Given the description of an element on the screen output the (x, y) to click on. 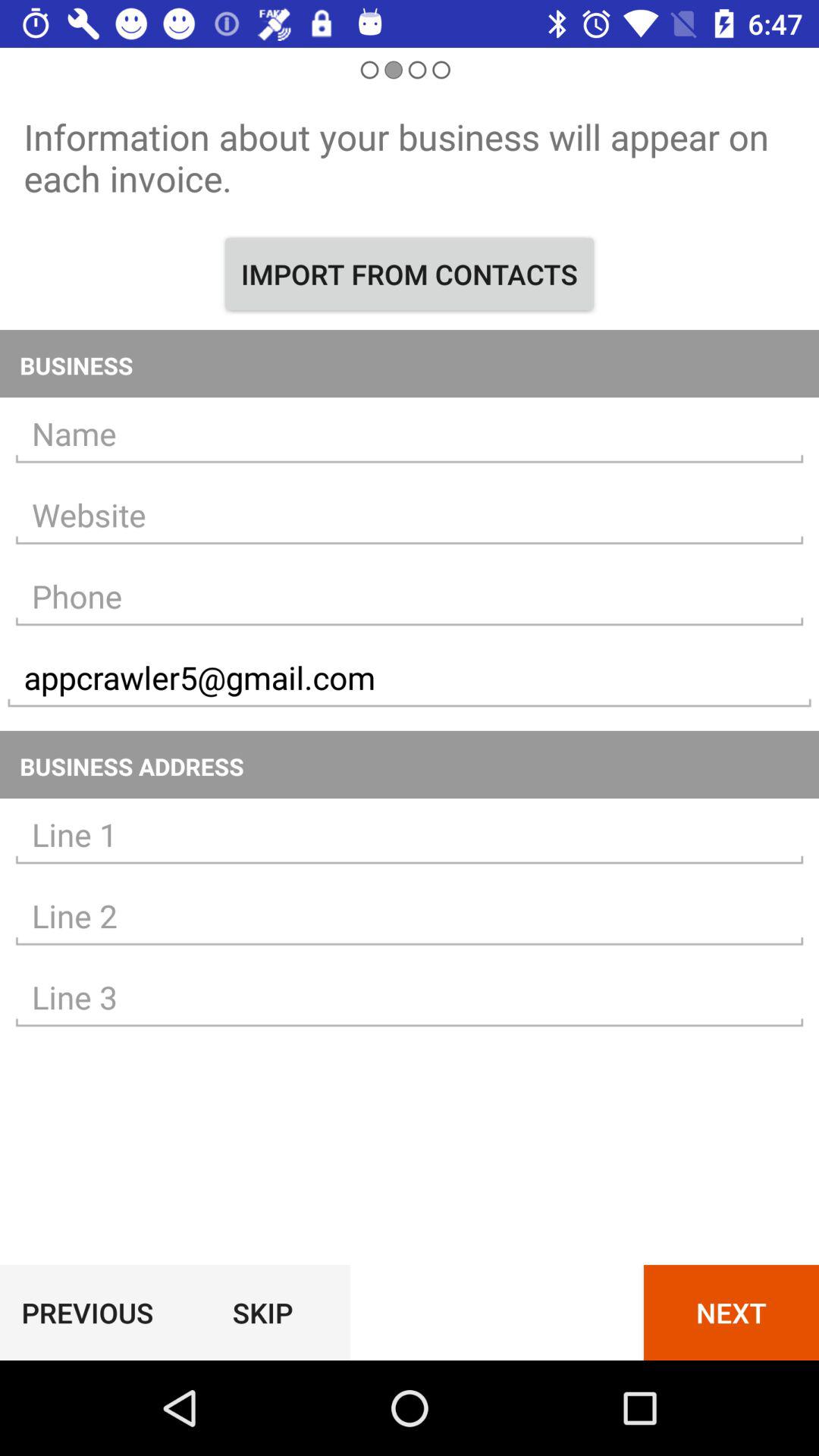
click the icon above the previous (409, 997)
